Given the description of an element on the screen output the (x, y) to click on. 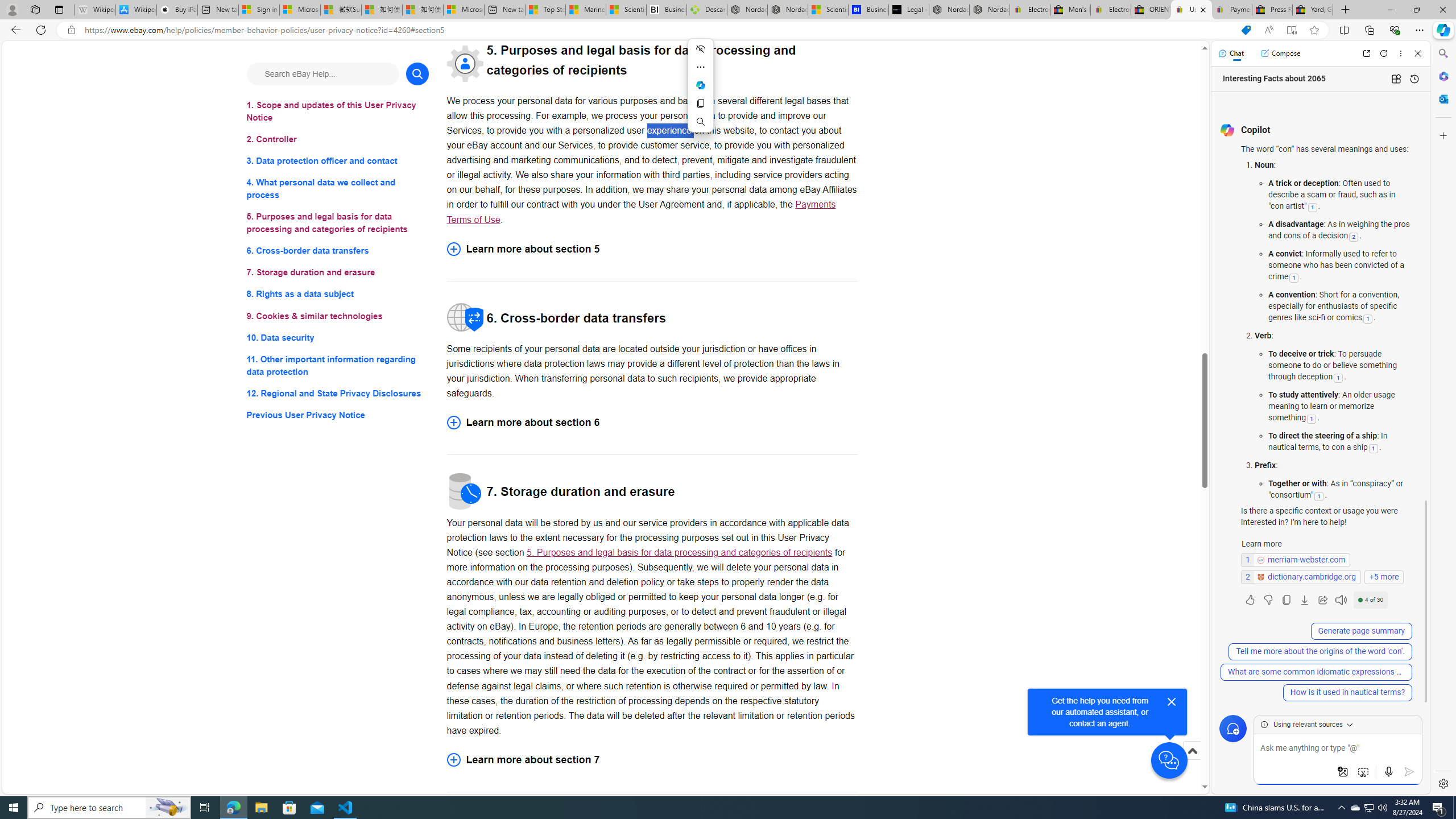
Wikipedia - Sleeping (94, 9)
Buy iPad - Apple (176, 9)
6. Cross-border data transfers (337, 250)
1. Scope and updates of this User Privacy Notice (337, 111)
